Given the description of an element on the screen output the (x, y) to click on. 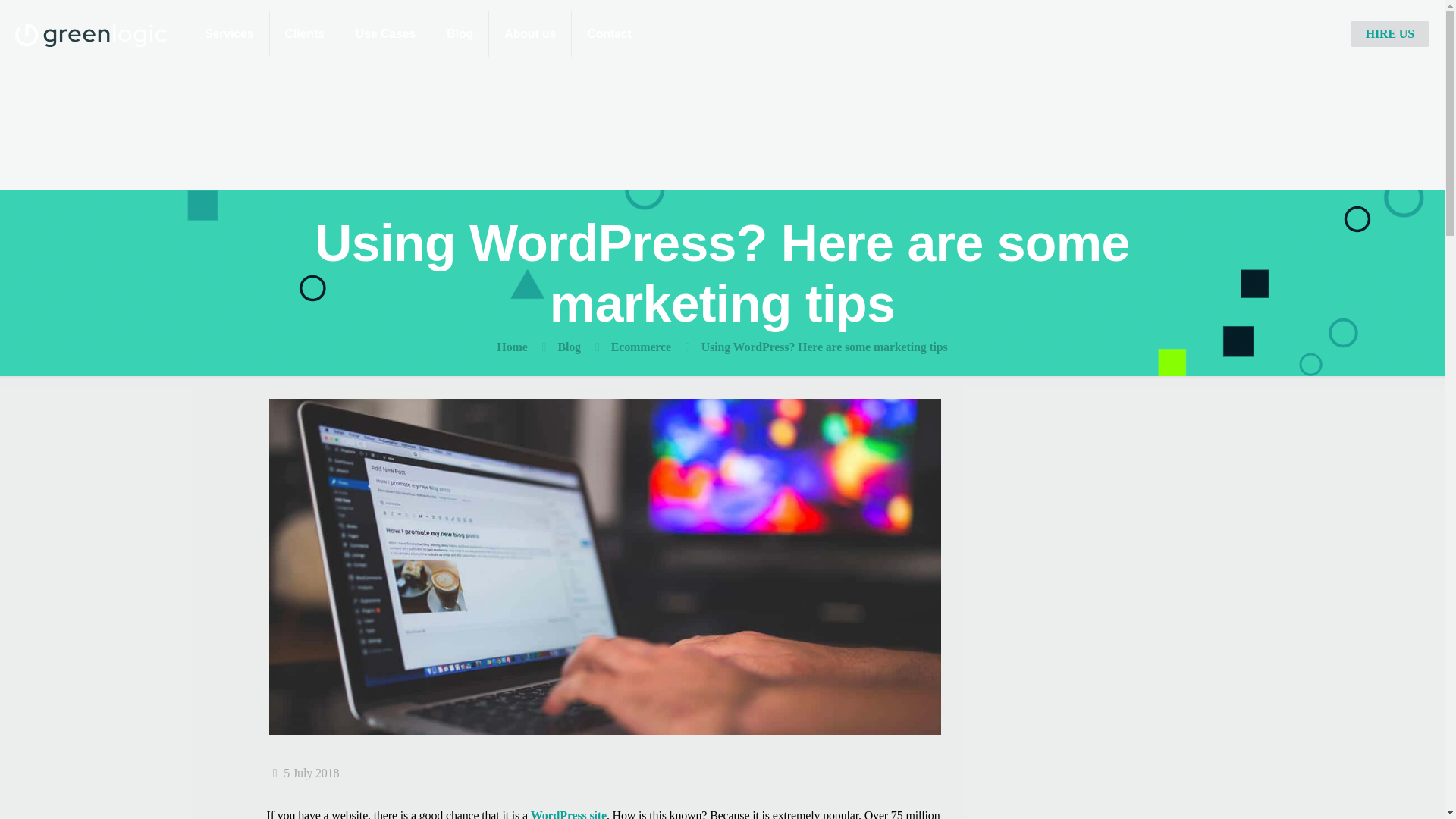
Home (511, 346)
About us (530, 33)
Greenlogic (90, 33)
WordPress site (569, 814)
Clients (304, 33)
Services (229, 33)
Ecommerce (641, 346)
Blog (568, 346)
Contact (609, 33)
Use Cases (386, 33)
HIRE US (1390, 33)
Using WordPress? Here are some marketing tips (824, 346)
